Given the description of an element on the screen output the (x, y) to click on. 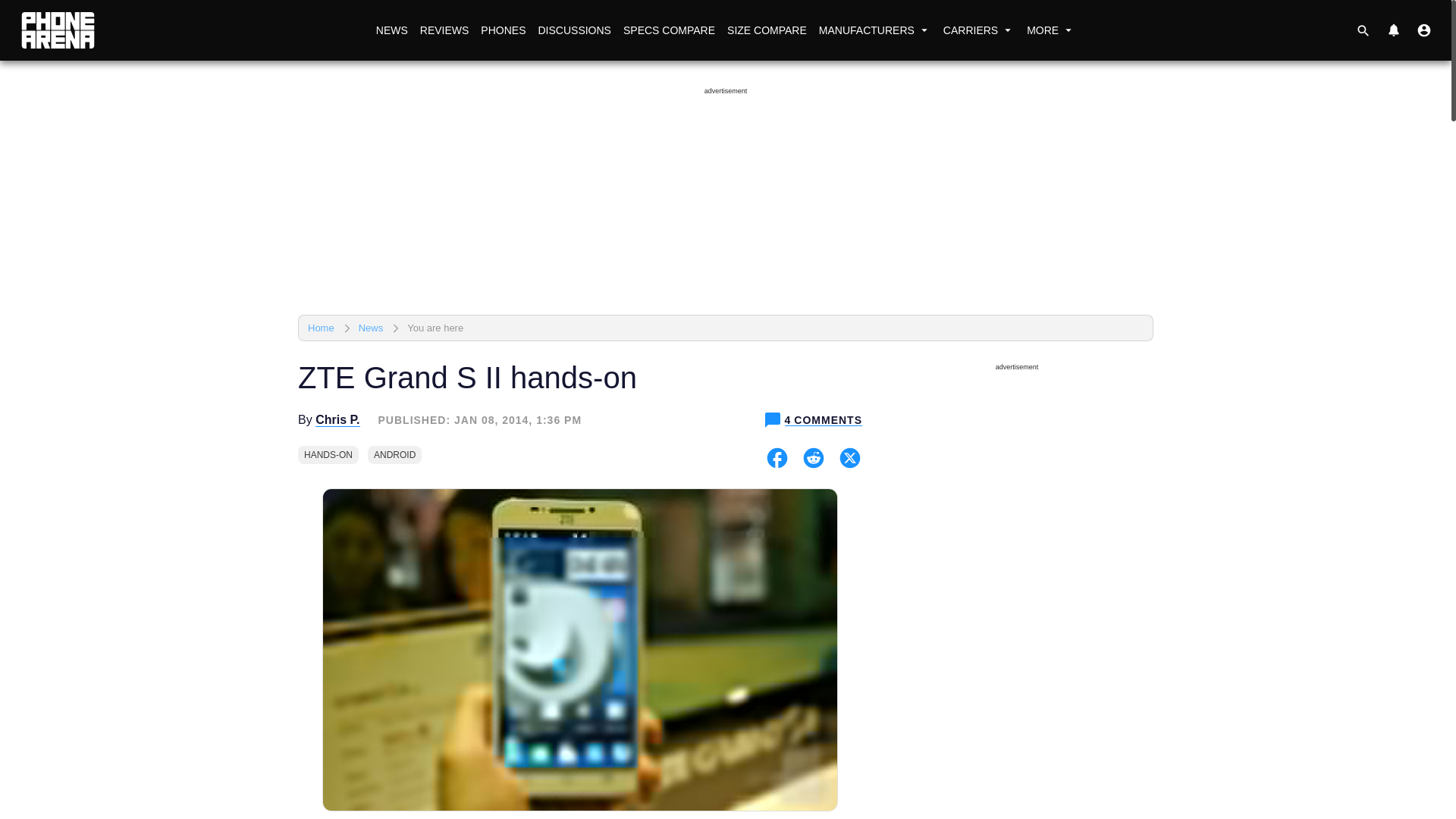
SPECS COMPARE (668, 30)
REVIEWS (444, 30)
CARRIERS (978, 30)
MORE (1050, 30)
PHONES (502, 30)
NEWS (391, 30)
MANUFACTURERS (874, 30)
SIZE COMPARE (766, 30)
DISCUSSIONS (573, 30)
